Given the description of an element on the screen output the (x, y) to click on. 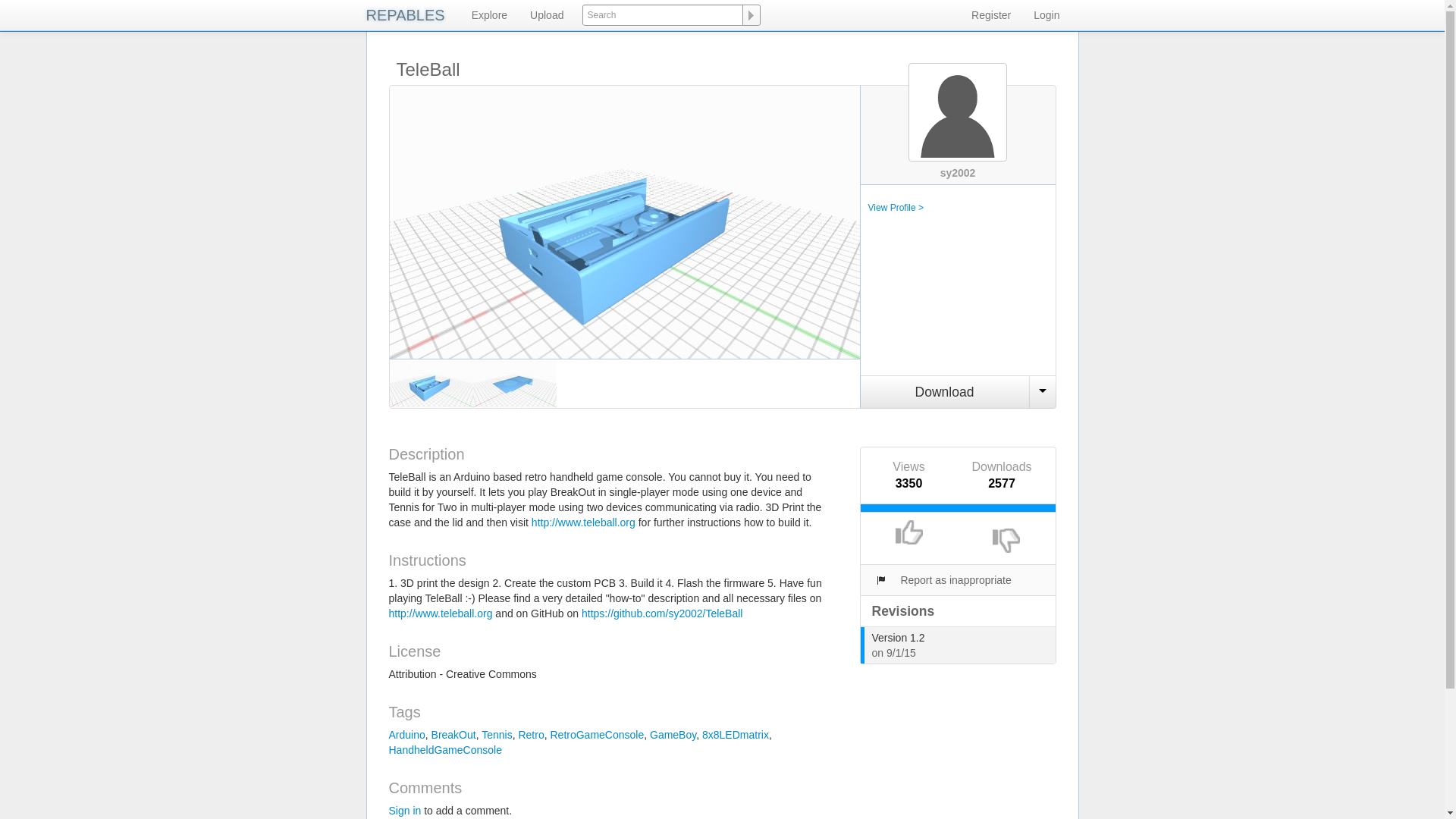
REPABLES (405, 15)
GameBoy (672, 734)
2 upvotes (957, 507)
8x8LEDmatrix (734, 734)
Upload (546, 15)
Sign in (404, 810)
Tennis (496, 734)
BreakOut (453, 734)
Download (944, 391)
Retro (530, 734)
Login (1046, 15)
Register (990, 15)
Report as inappropriate (942, 580)
RetroGameConsole (596, 734)
HandheldGameConsole (444, 749)
